Given the description of an element on the screen output the (x, y) to click on. 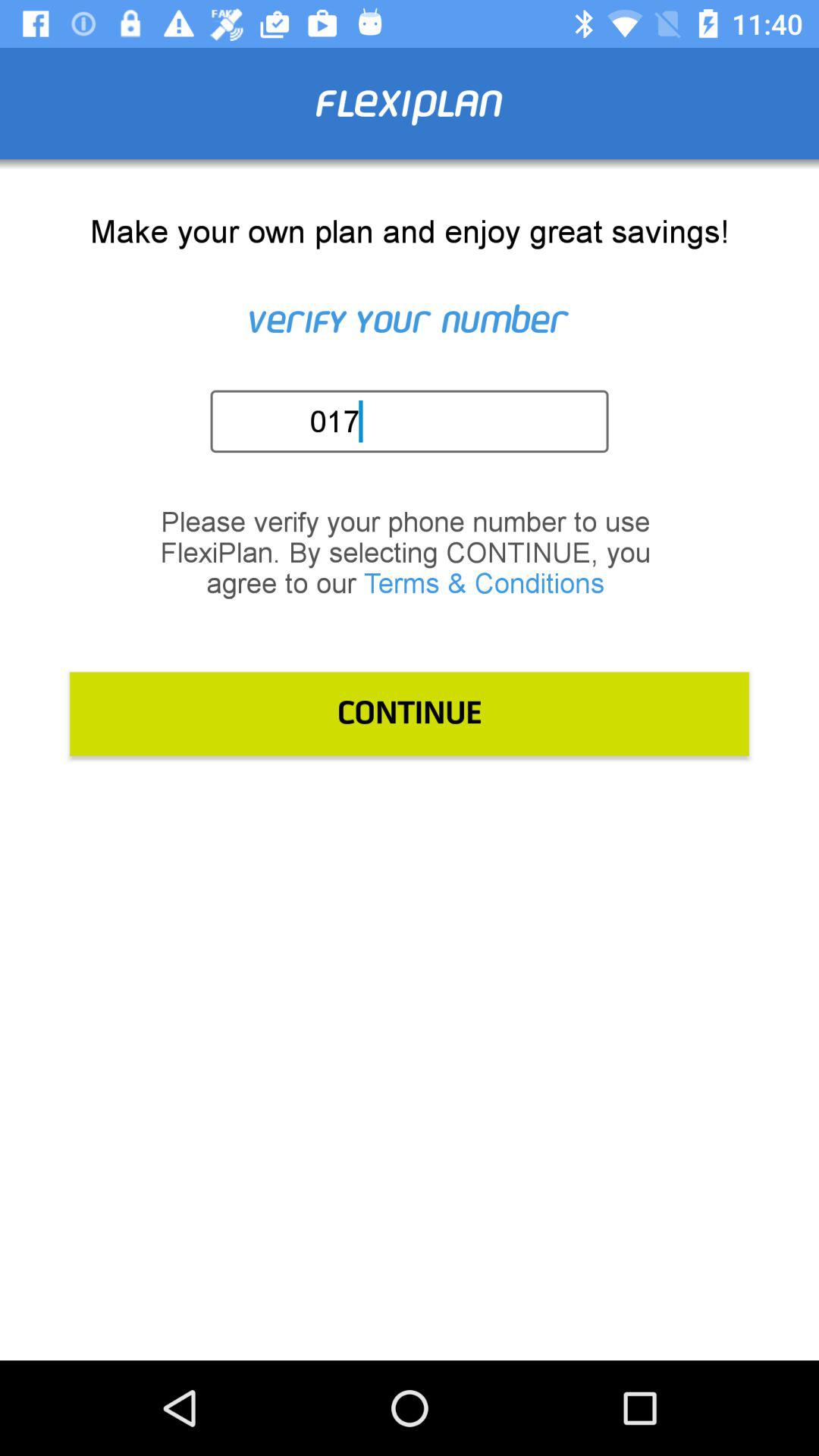
select the 017 item (413, 421)
